Given the description of an element on the screen output the (x, y) to click on. 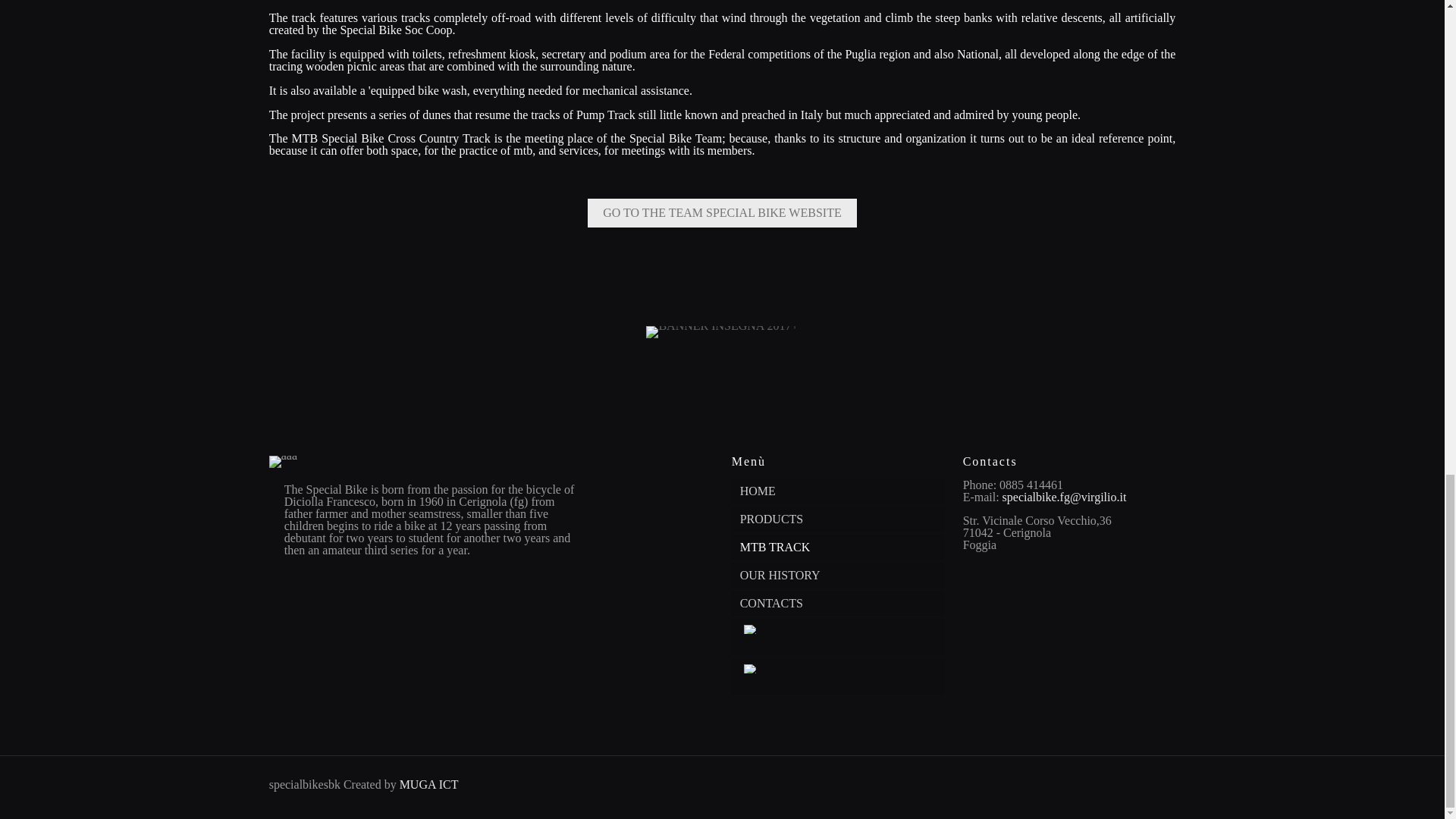
MUGA ICT (428, 784)
Italian (750, 668)
GO TO THE TEAM SPECIAL BIKE WEBSITE (722, 213)
English (750, 628)
MTB TRACK (838, 547)
CONTACTS (838, 603)
OUR HISTORY (838, 575)
HOME (838, 491)
PRODUCTS (838, 518)
